Given the description of an element on the screen output the (x, y) to click on. 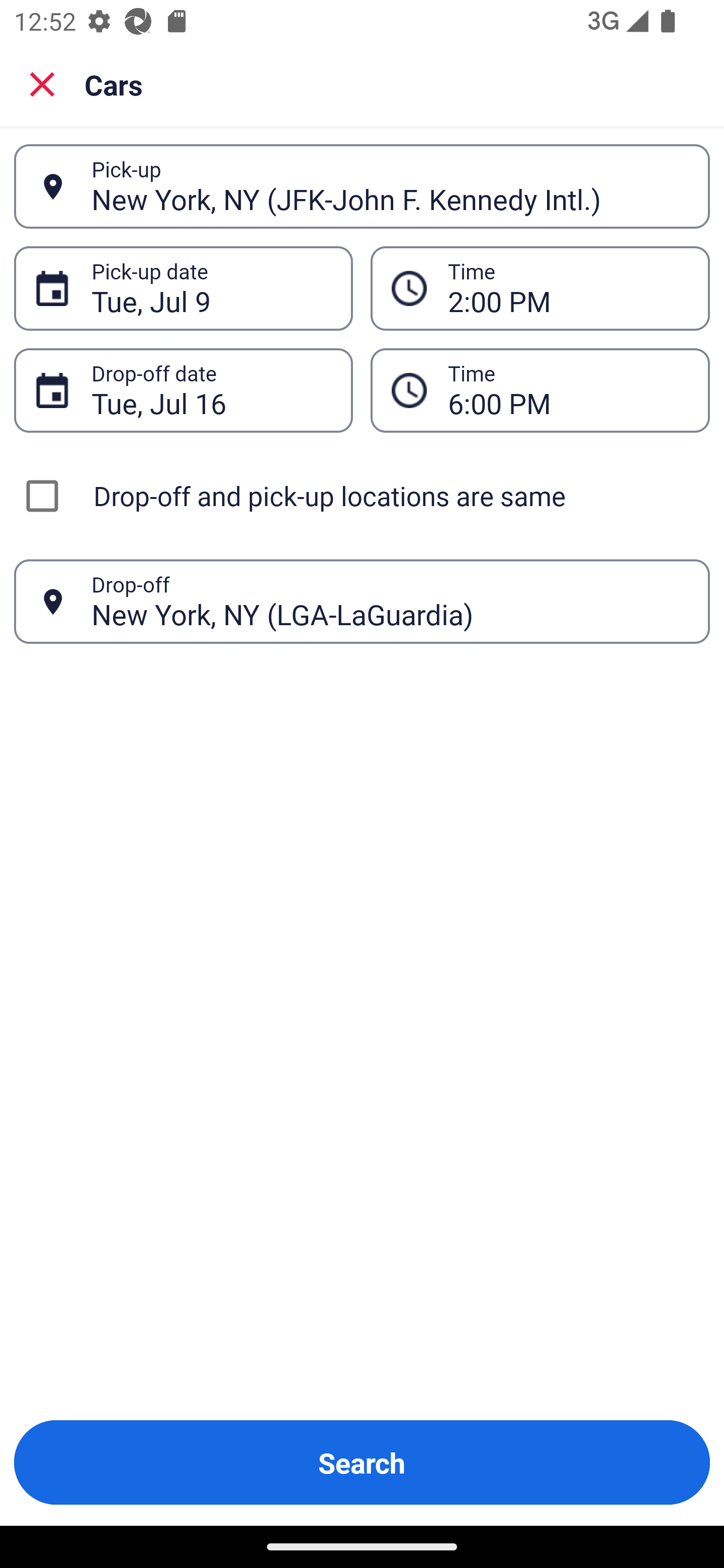
Close search screen (42, 84)
New York, NY (JFK-John F. Kennedy Intl.) (389, 186)
Tue, Jul 9 (211, 288)
2:00 PM (568, 288)
Tue, Jul 16 (211, 390)
6:00 PM (568, 390)
Drop-off and pick-up locations are same (361, 495)
New York, NY (LGA-LaGuardia) (389, 601)
Search Button Search (361, 1462)
